Given the description of an element on the screen output the (x, y) to click on. 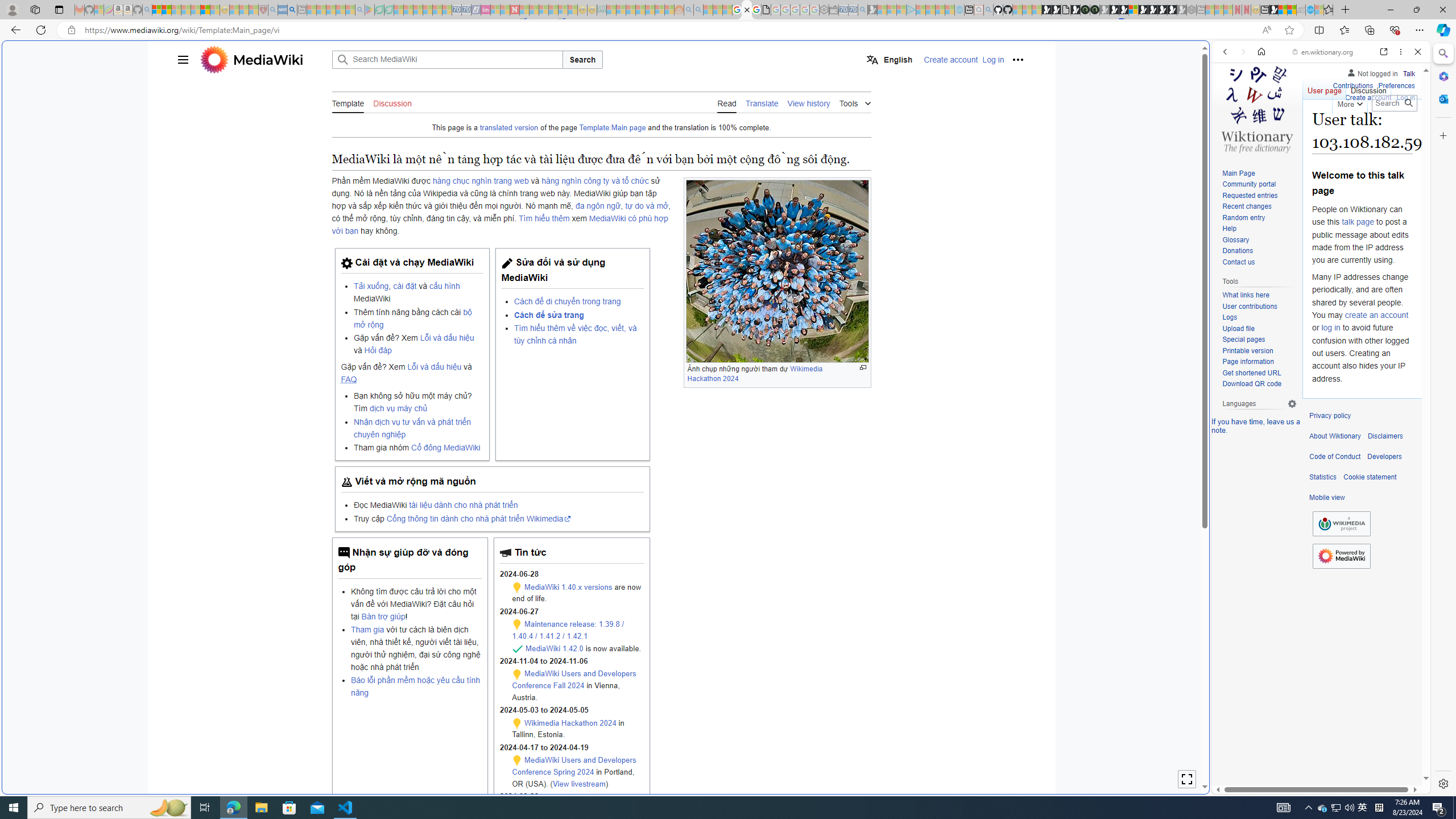
Wikimedia Foundation (1341, 524)
User contributions (1259, 306)
Statistics (1322, 477)
MediaWiki (262, 59)
Random entry (1259, 218)
Disclaimers (1385, 436)
